Given the description of an element on the screen output the (x, y) to click on. 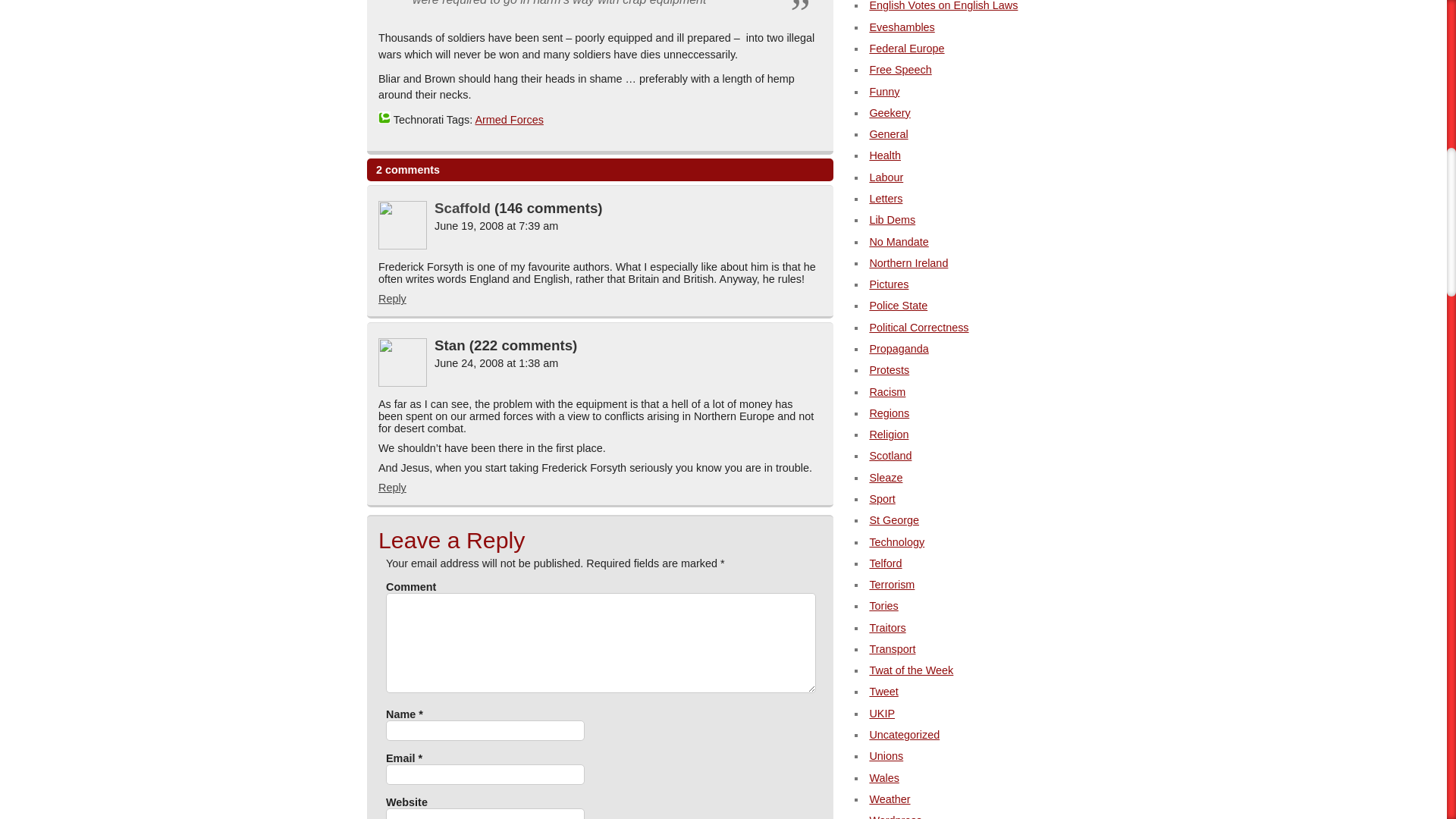
June 24, 2008 at 1:38 am (495, 363)
Armed Forces (508, 119)
June 19, 2008 at 7:39 am (495, 225)
Reply (392, 298)
Federal Europe (906, 48)
Eveshambles (901, 27)
Scaffold (461, 207)
English Votes on English Laws (943, 5)
Reply (392, 487)
